Given the description of an element on the screen output the (x, y) to click on. 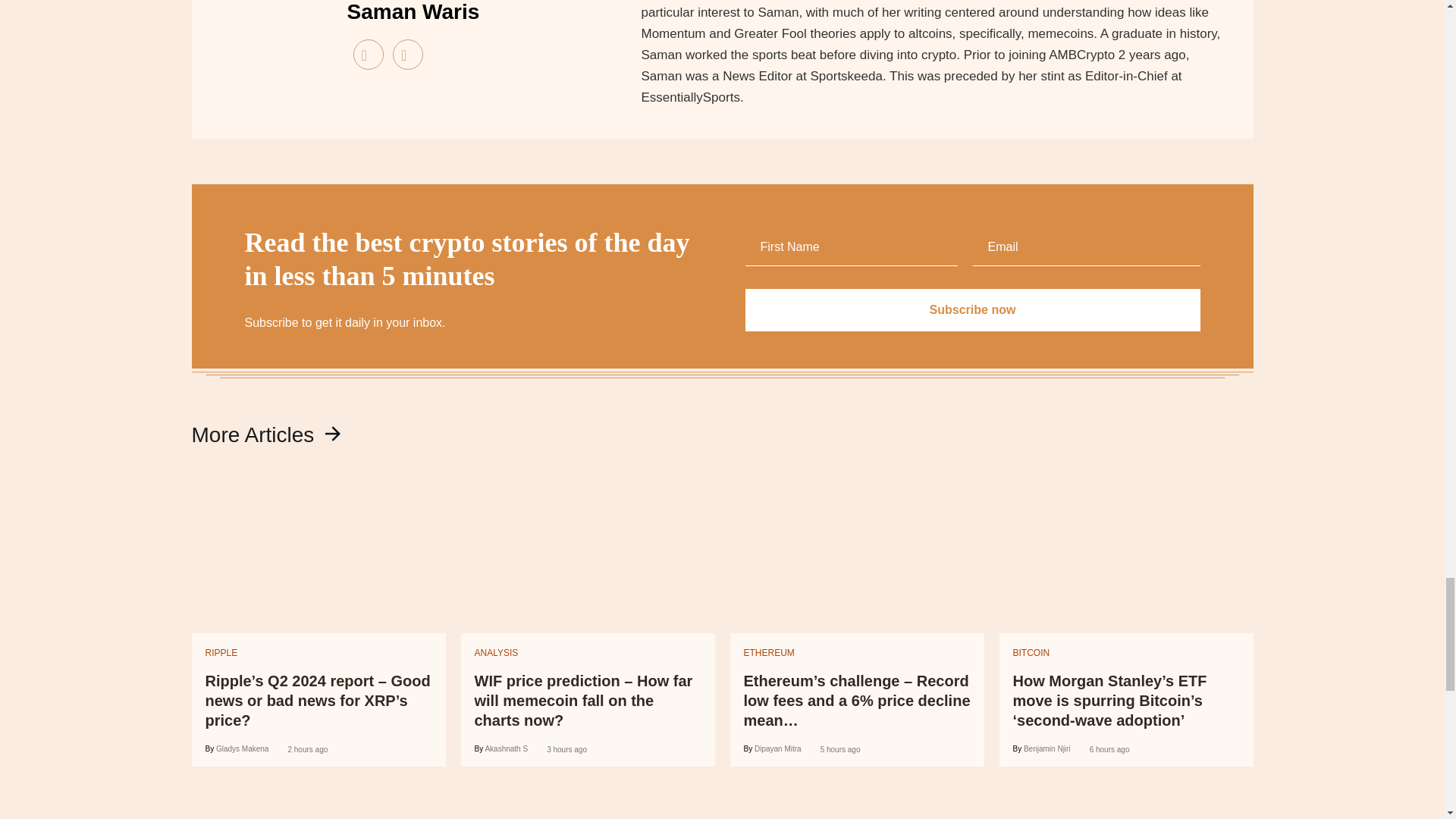
Subscribe now (971, 310)
